Given the description of an element on the screen output the (x, y) to click on. 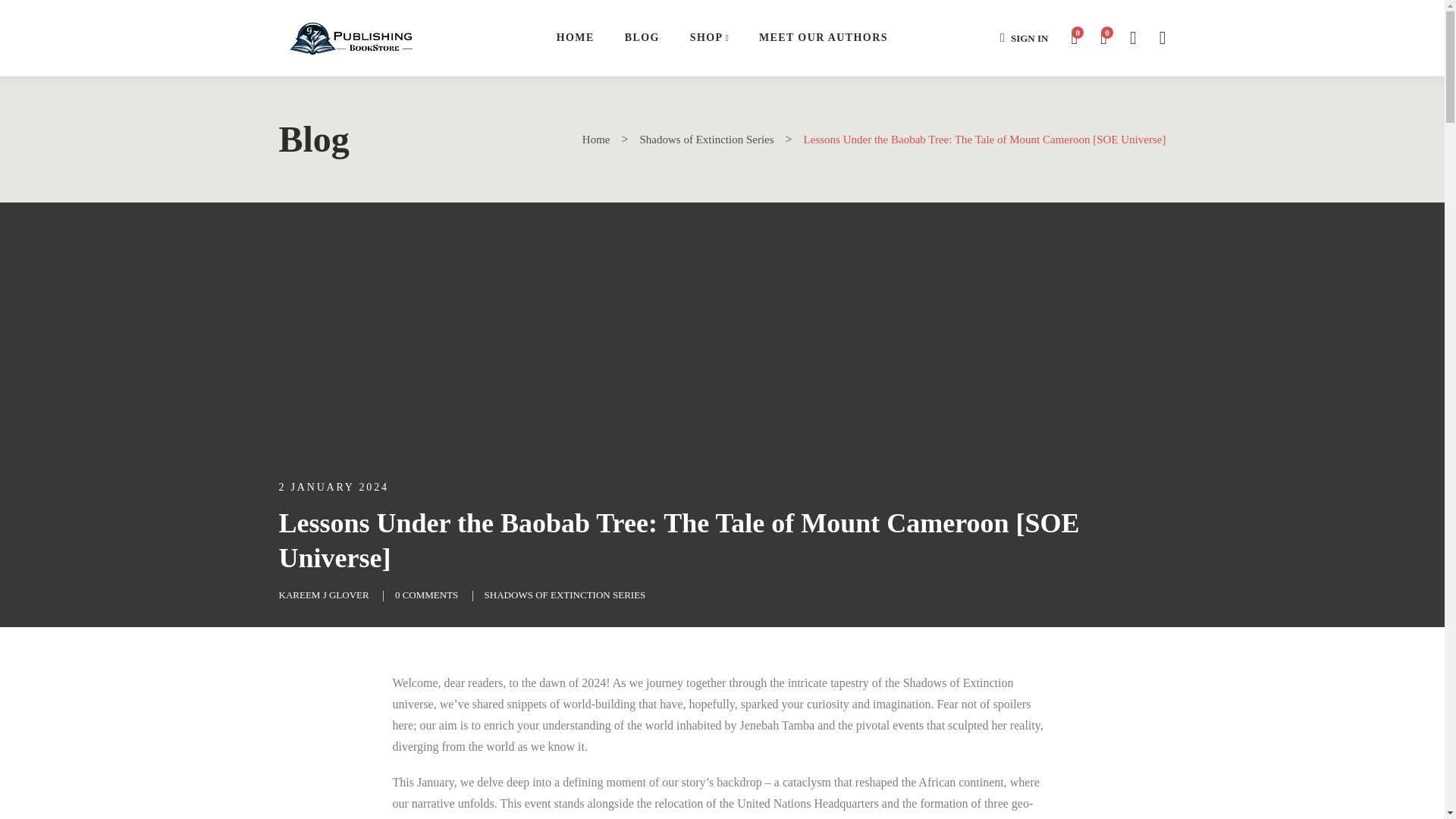
Home (596, 139)
0 COMMENTS (426, 594)
Sign in (1024, 37)
KAREEM J GLOVER (325, 594)
SIGN IN (1024, 37)
Browse Author Articles (325, 594)
SHADOWS OF EXTINCTION SERIES (565, 594)
Shadows of Extinction Series (707, 139)
2 JANUARY 2024 (333, 487)
MEET OUR AUTHORS (823, 38)
